Given the description of an element on the screen output the (x, y) to click on. 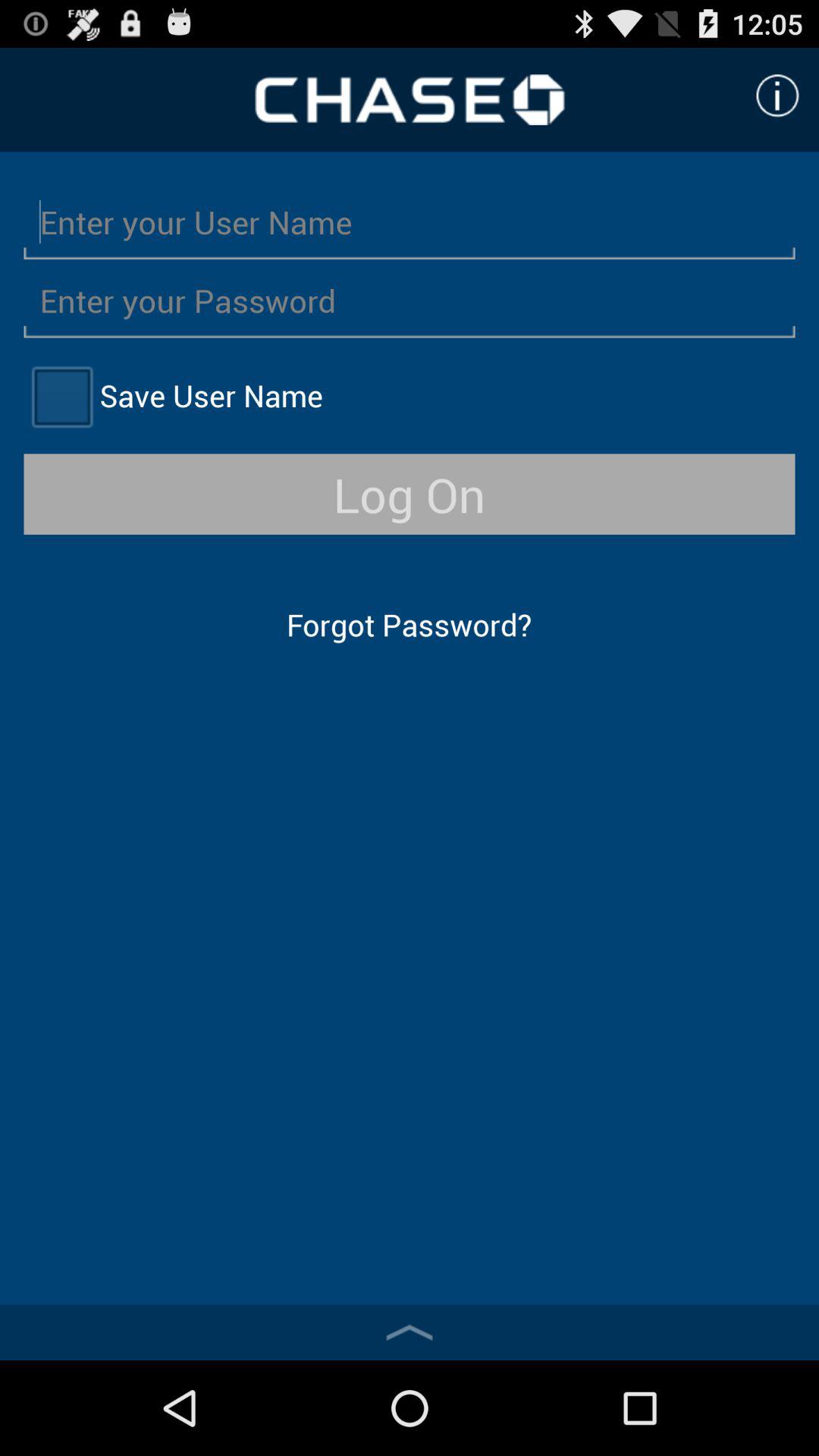
swipe up (409, 1332)
